Given the description of an element on the screen output the (x, y) to click on. 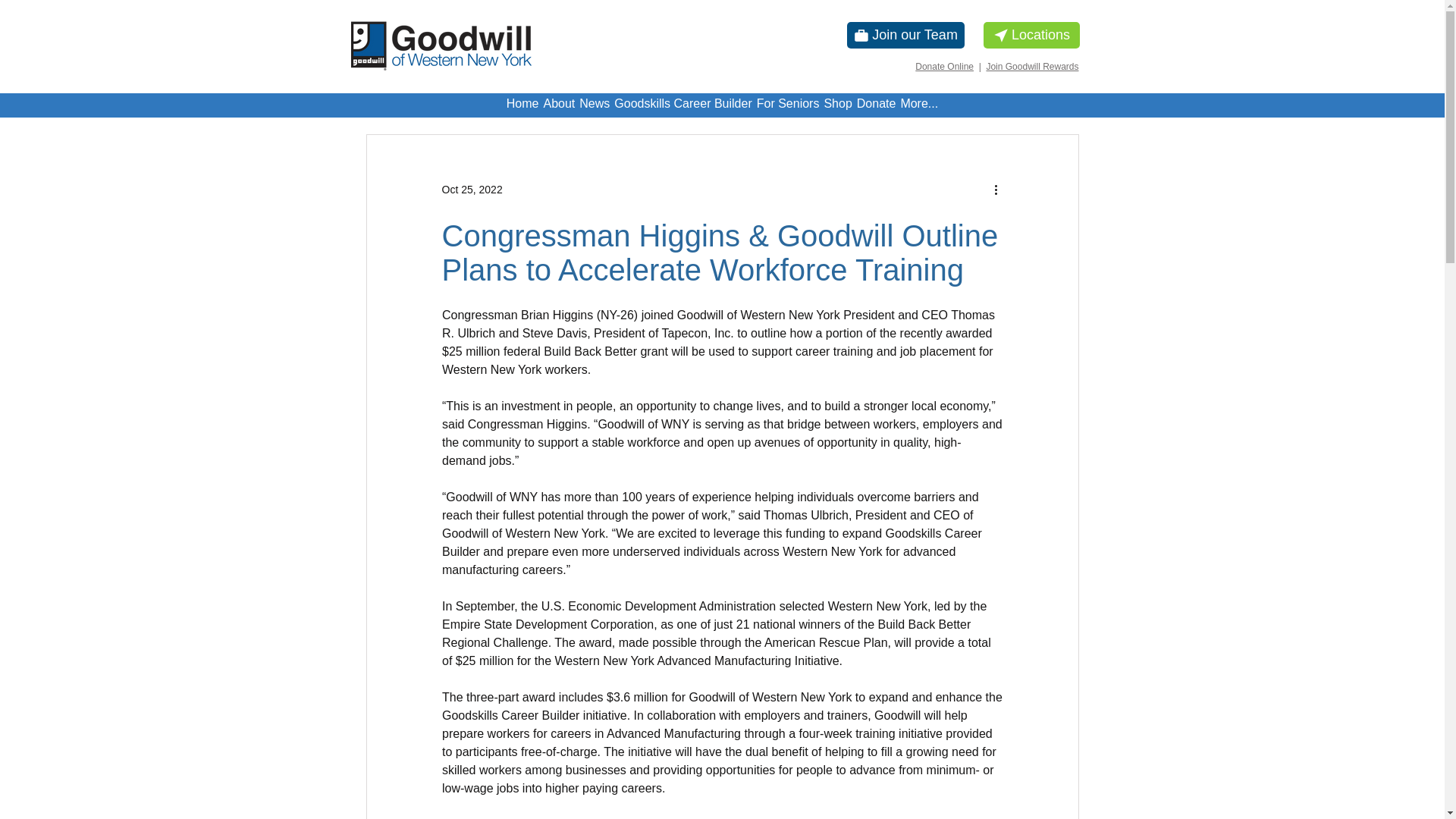
News (593, 105)
Oct 25, 2022 (471, 189)
Goodskills Career Builder (682, 105)
Locations (1030, 35)
Donate (876, 105)
Donate Online (944, 66)
About (558, 105)
Home (522, 105)
For Seniors (788, 105)
Shop (837, 105)
